Given the description of an element on the screen output the (x, y) to click on. 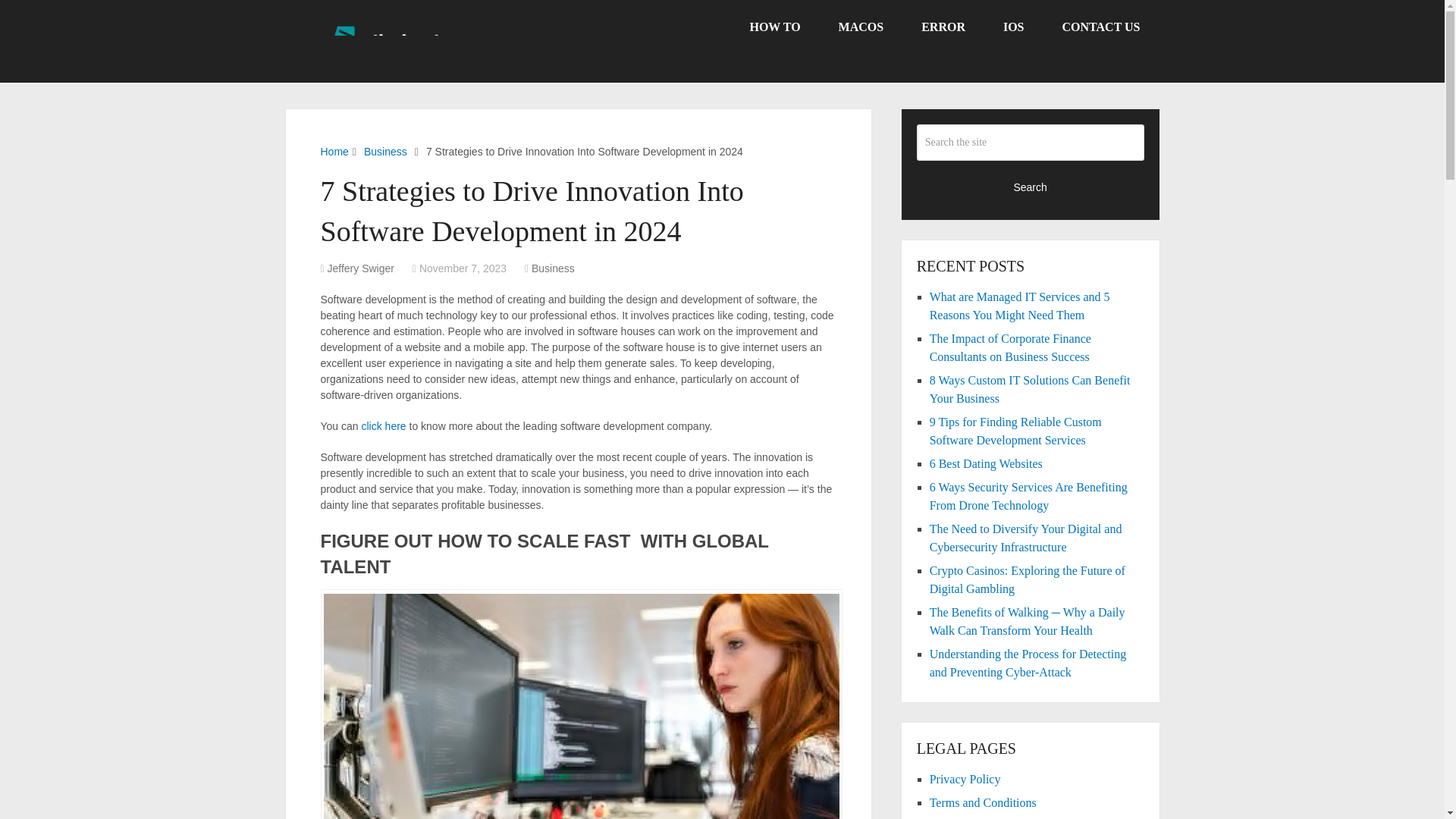
Home (333, 151)
View all posts in Business (553, 268)
8 Ways Custom IT Solutions Can Benefit Your Business (1030, 388)
6 Best Dating Websites (986, 463)
Jeffery Swiger (360, 268)
click here (383, 426)
ERROR (943, 27)
MACOS (860, 27)
CONTACT US (1100, 27)
